Given the description of an element on the screen output the (x, y) to click on. 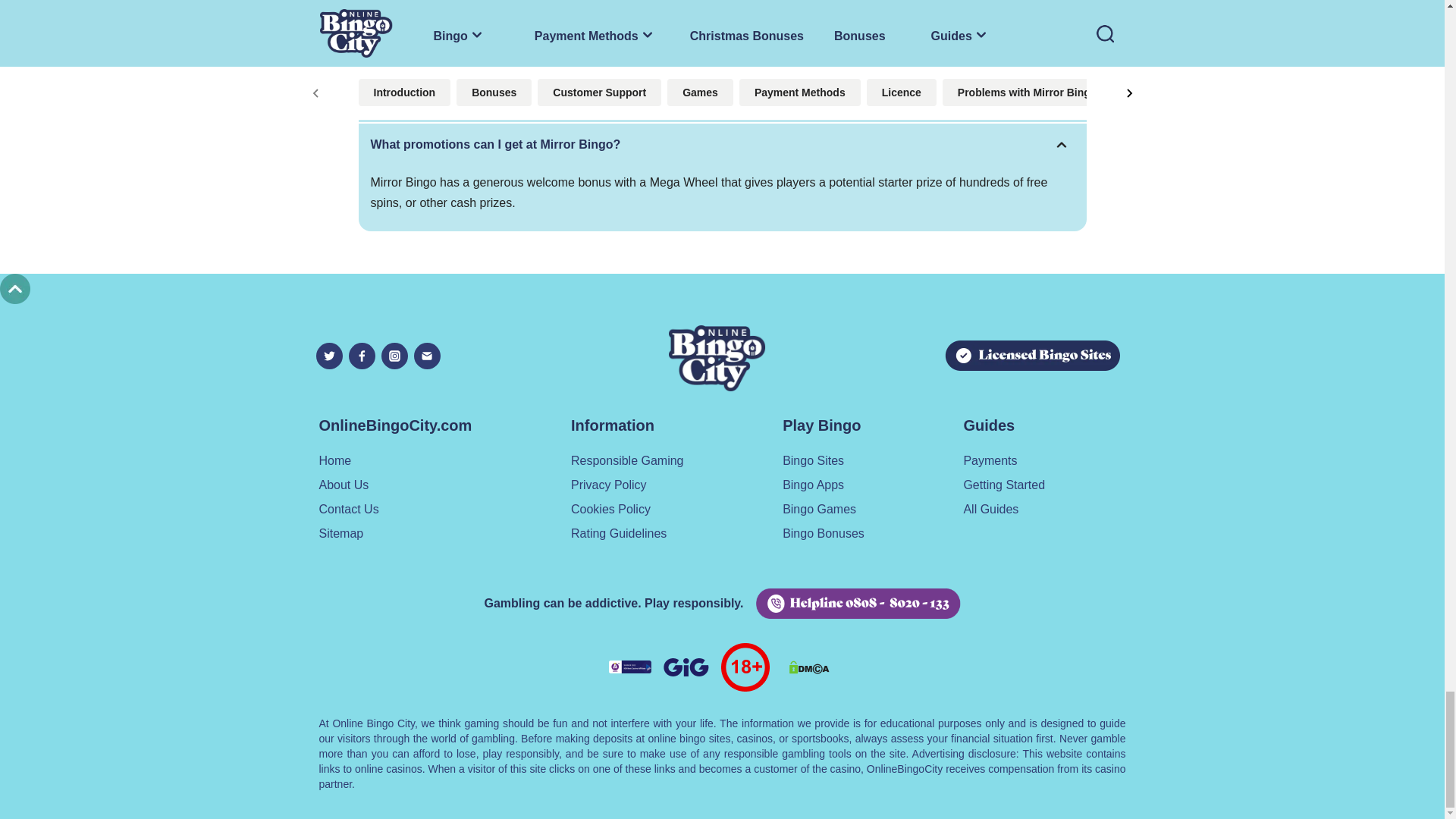
Instagram (393, 356)
Facebook (362, 356)
Twitter (328, 356)
email (427, 356)
